Given the description of an element on the screen output the (x, y) to click on. 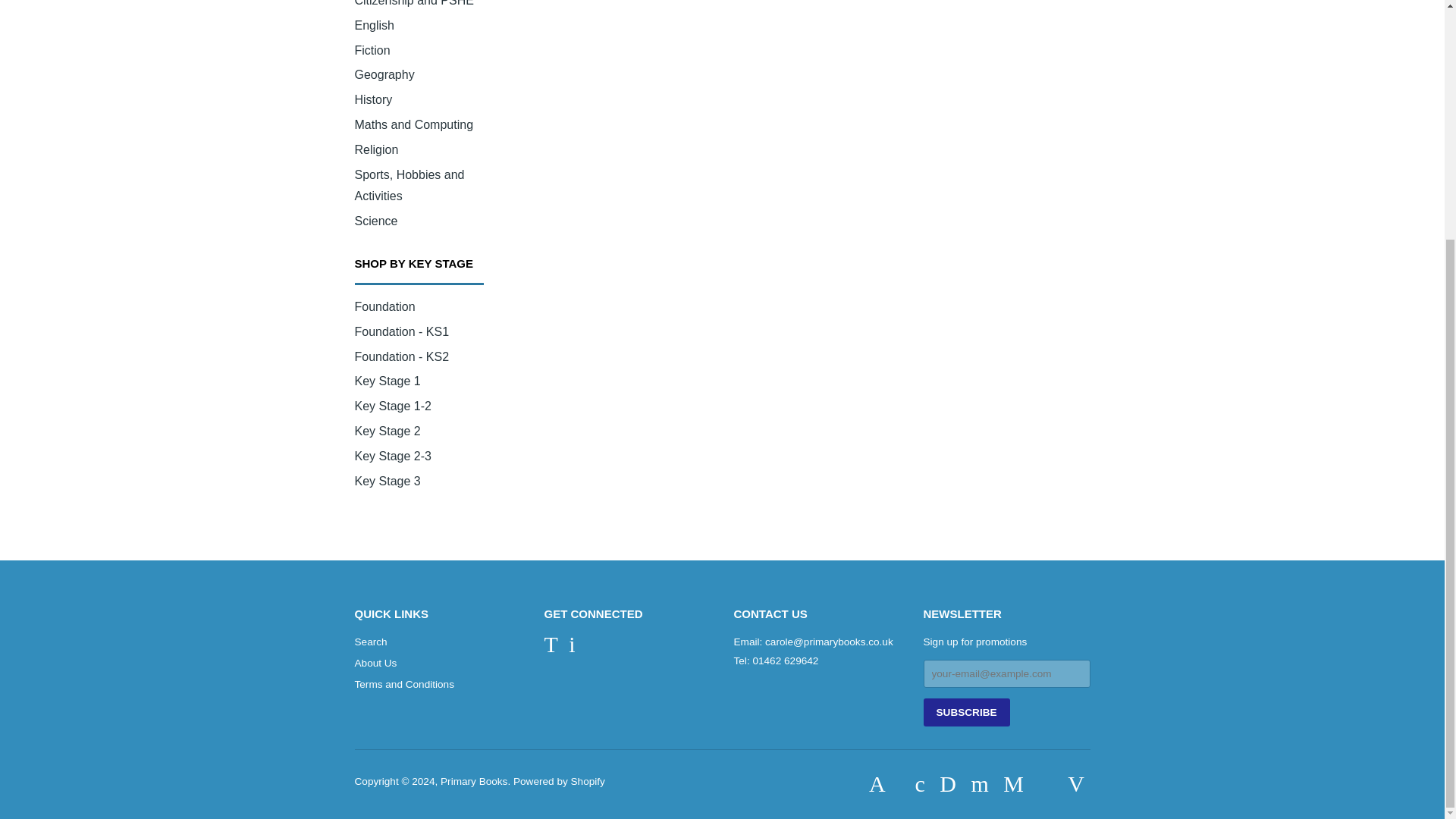
Citizenship and PSHE (414, 3)
Foundation - KS2 (402, 356)
Foundation - KS2 (402, 356)
Foundation - KS1 (402, 331)
Foundation (384, 306)
Religion (376, 149)
Subscribe (966, 712)
Key Stage 1 (387, 380)
Maths and Computing (414, 124)
Key Stage 1 (387, 380)
Foundation - KS1 (402, 331)
Key Stage 2-3 (392, 455)
Fiction (372, 50)
Key Stage 2 (387, 431)
Primary Books on Twitter (550, 648)
